Given the description of an element on the screen output the (x, y) to click on. 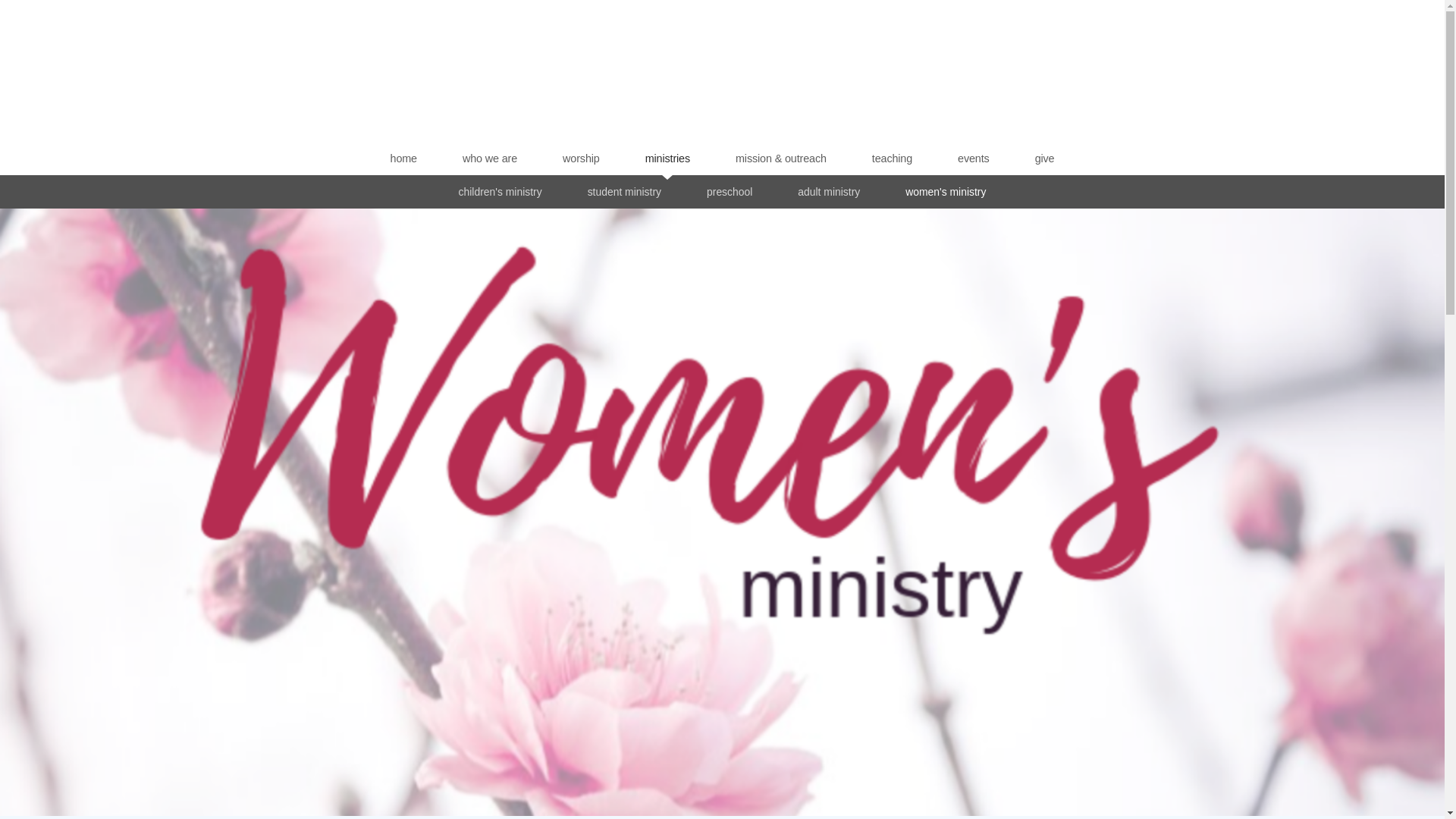
home (403, 158)
who we are (489, 158)
worship (580, 158)
